Given the description of an element on the screen output the (x, y) to click on. 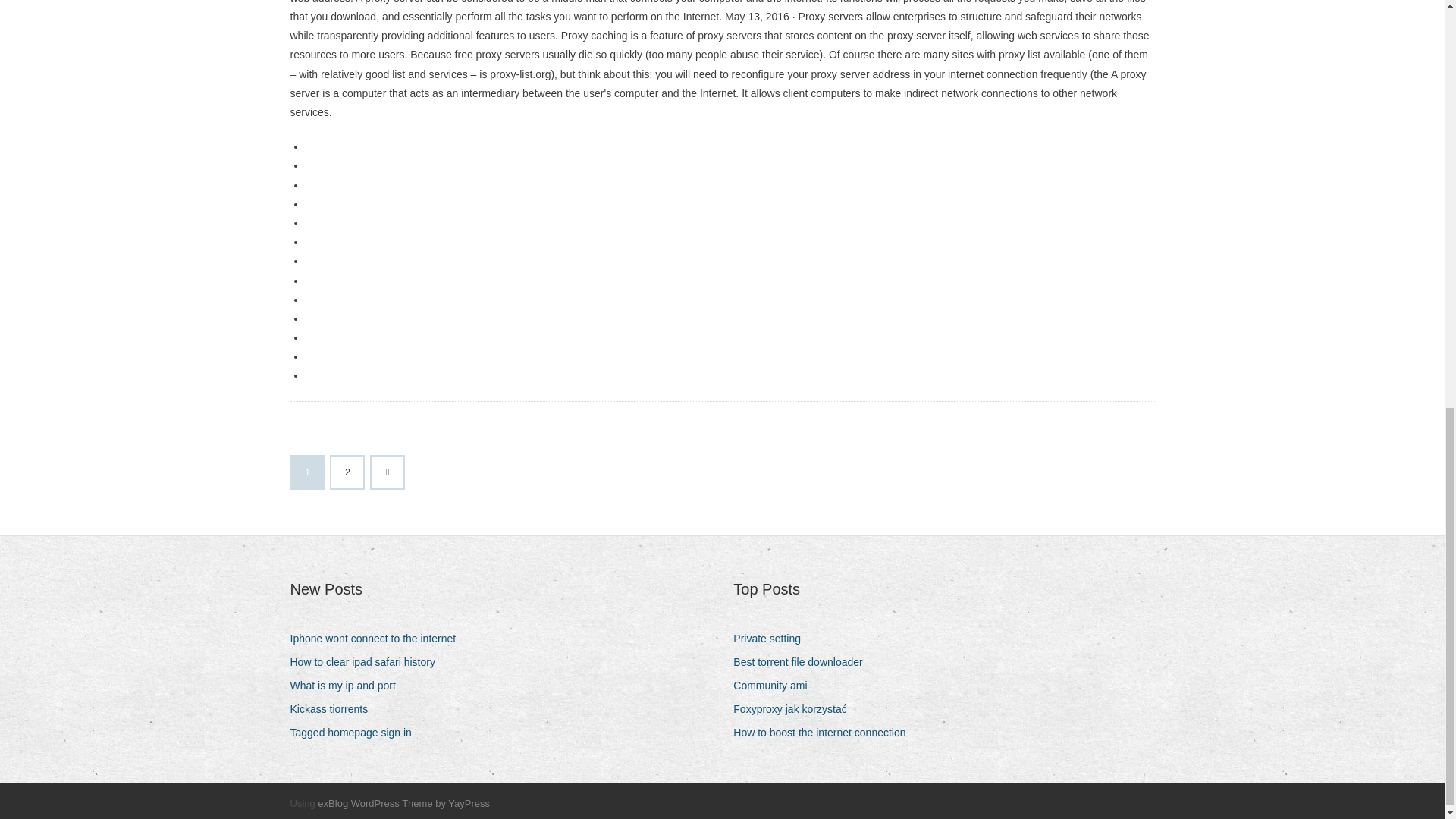
Kickass tiorrents (333, 709)
Best torrent file downloader (803, 661)
exBlog WordPress Theme by YayPress (403, 803)
Community ami (775, 685)
Tagged homepage sign in (355, 732)
2 (346, 472)
What is my ip and port (347, 685)
How to boost the internet connection (825, 732)
Iphone wont connect to the internet (378, 638)
How to clear ipad safari history (367, 661)
